Given the description of an element on the screen output the (x, y) to click on. 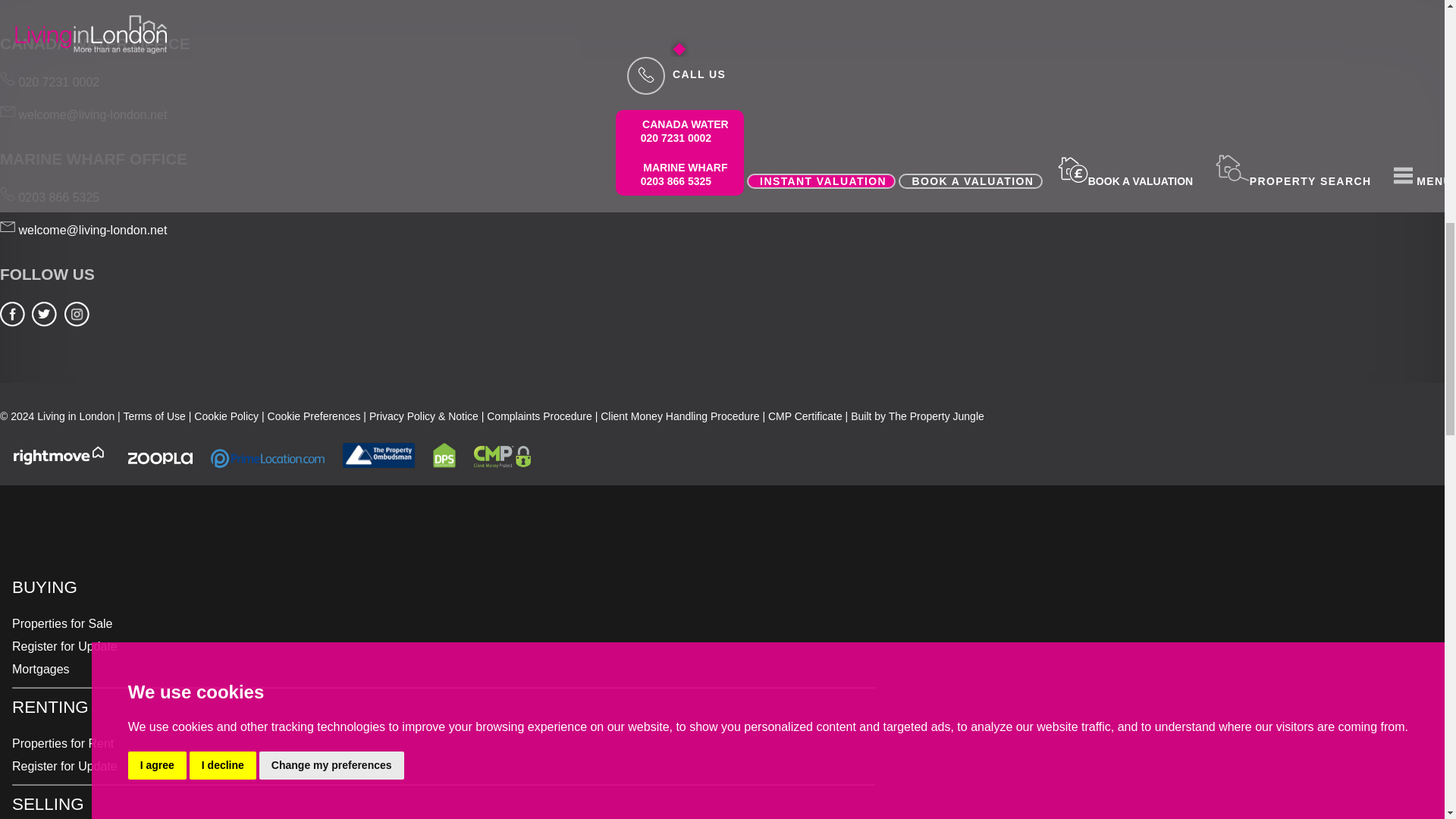
CMP Certificate (805, 416)
Cookie Policy (226, 416)
0203 866 5325 (49, 196)
Properties for Sale (62, 623)
Privacy Policy (424, 416)
Register for update (64, 645)
Mortgages (40, 668)
Complaints Procedure (539, 416)
Built by The Property Jungle (917, 416)
Properties for Sale (62, 623)
020 7231 0002 (49, 82)
Terms of Use (153, 416)
Cookie Policy (226, 416)
Register for update (64, 766)
Properties for Rent (62, 743)
